Given the description of an element on the screen output the (x, y) to click on. 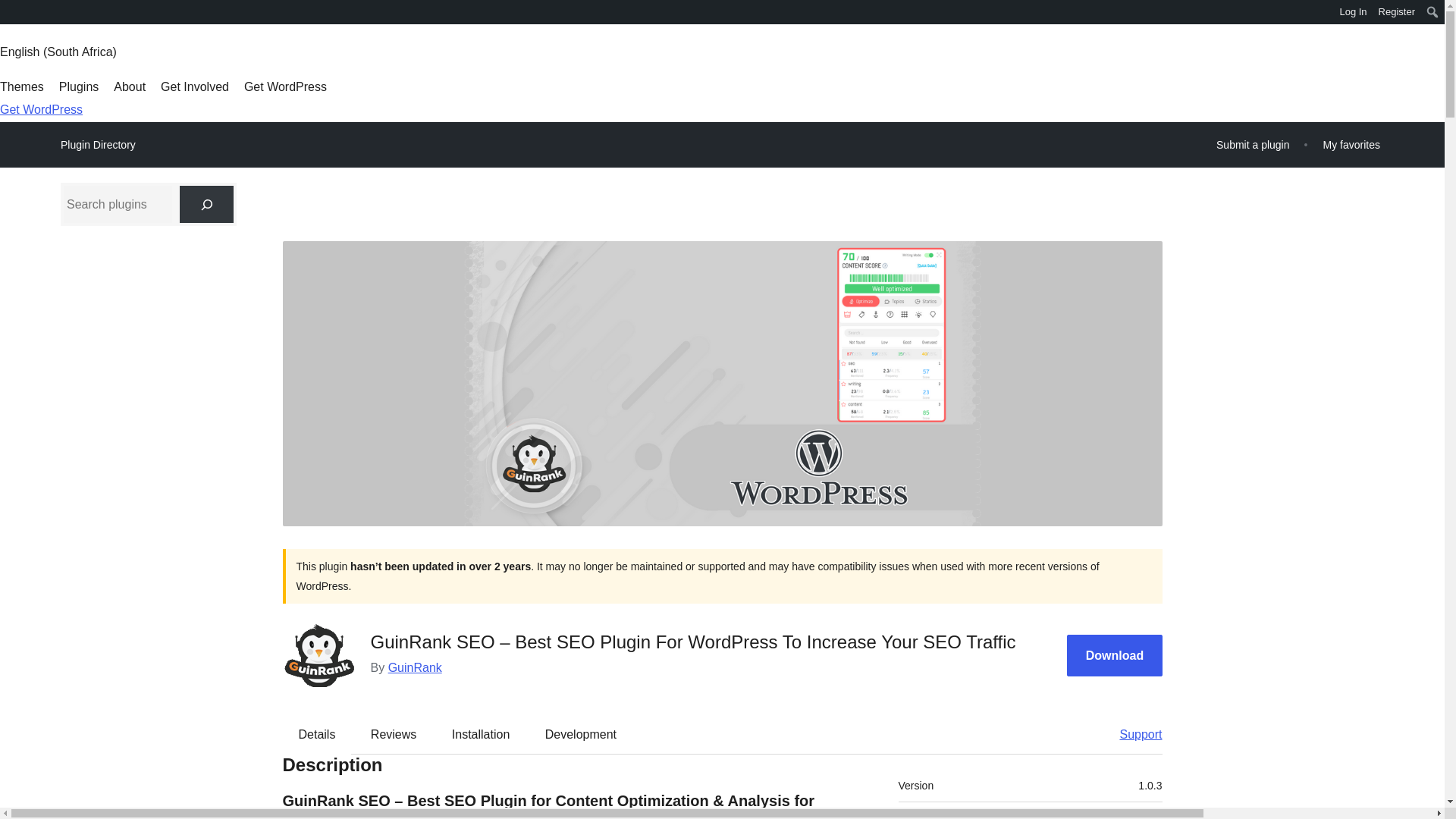
Search (16, 13)
Plugin Directory (97, 144)
Get Involved (194, 87)
Reviews (392, 733)
WordPress.org (10, 14)
Support (1132, 733)
My favorites (1351, 144)
GuinRank (415, 667)
Submit a plugin (1253, 144)
Download (1114, 655)
Log In (1353, 12)
About (129, 87)
Themes (21, 87)
Plugins (79, 87)
Get WordPress (41, 109)
